Given the description of an element on the screen output the (x, y) to click on. 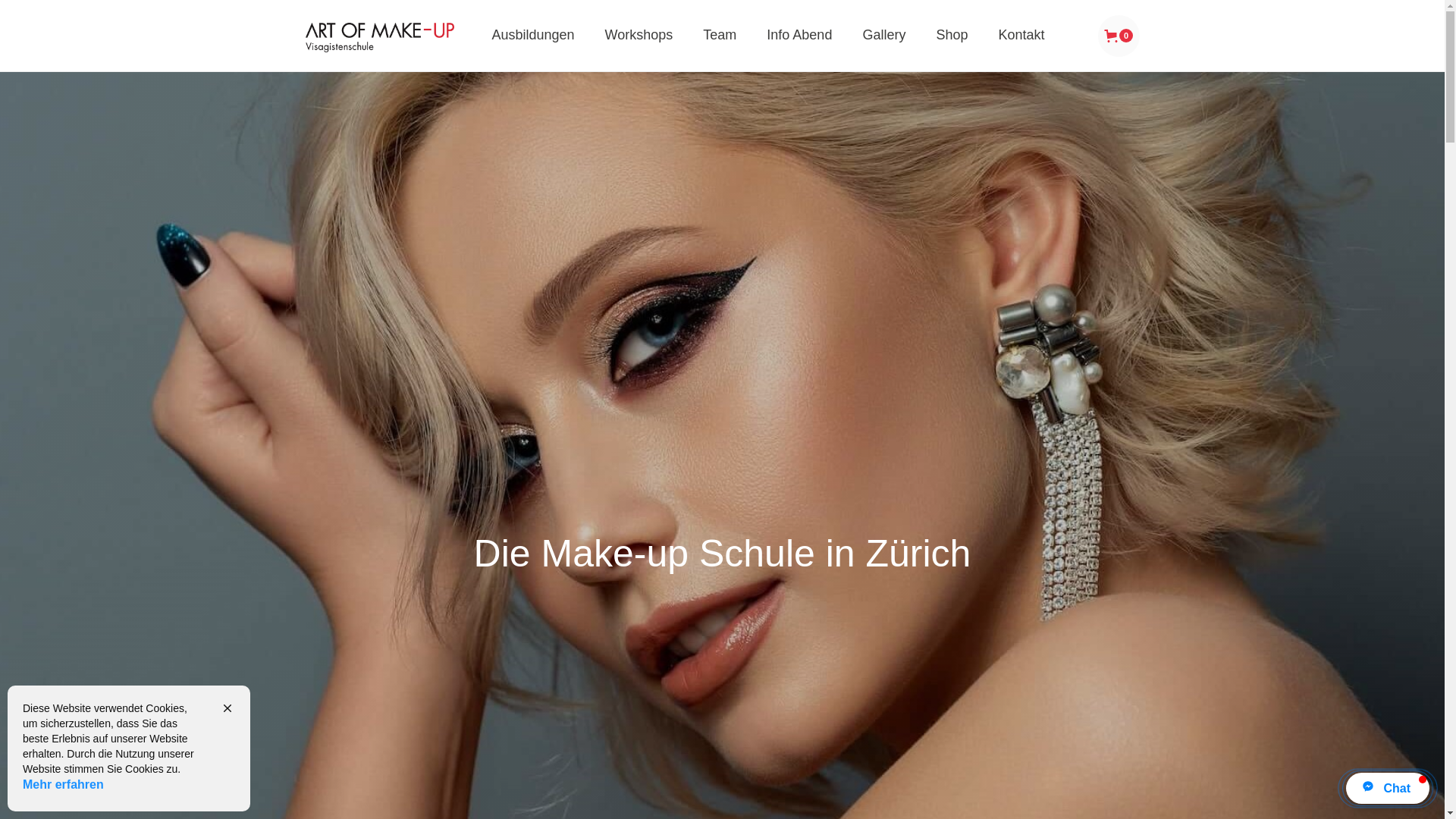
Chat Element type: text (1387, 787)
Shop Element type: text (951, 35)
Workshops Element type: text (638, 35)
Team Element type: text (719, 35)
Ausbildungen Element type: text (532, 35)
Info Abend Element type: text (799, 35)
Gallery Element type: text (883, 35)
Mehr erfahren Element type: text (62, 784)
0 Element type: text (1118, 35)
Kontakt Element type: text (1020, 35)
MEHR INFOS Element type: text (830, 75)
